Given the description of an element on the screen output the (x, y) to click on. 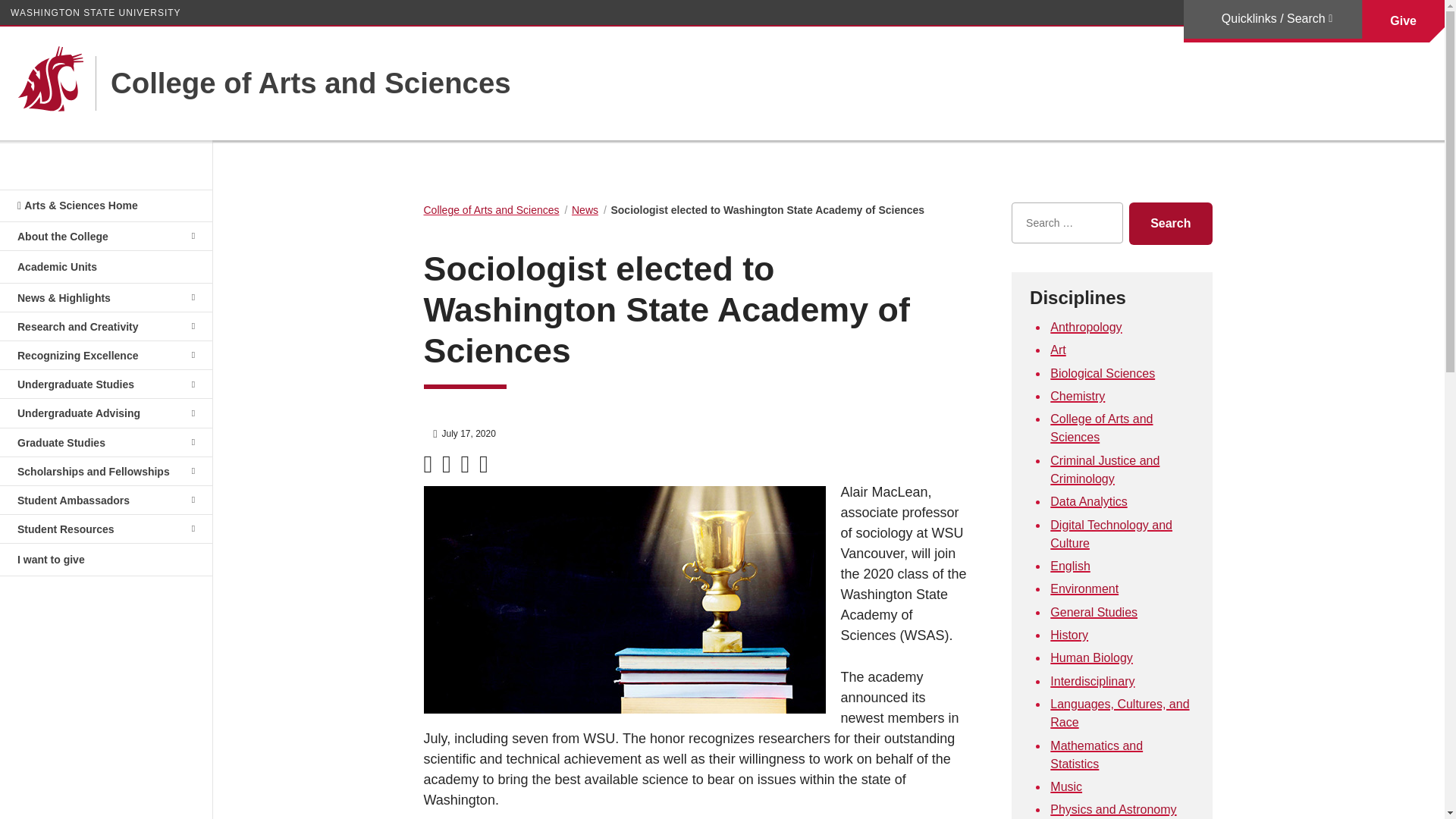
Search (1170, 223)
Search (1170, 223)
College of Arts and Sciences (303, 83)
Go to News. (585, 209)
WASHINGTON STATE UNIVERSITY (96, 12)
Go to College of Arts and Sciences. (491, 209)
